Given the description of an element on the screen output the (x, y) to click on. 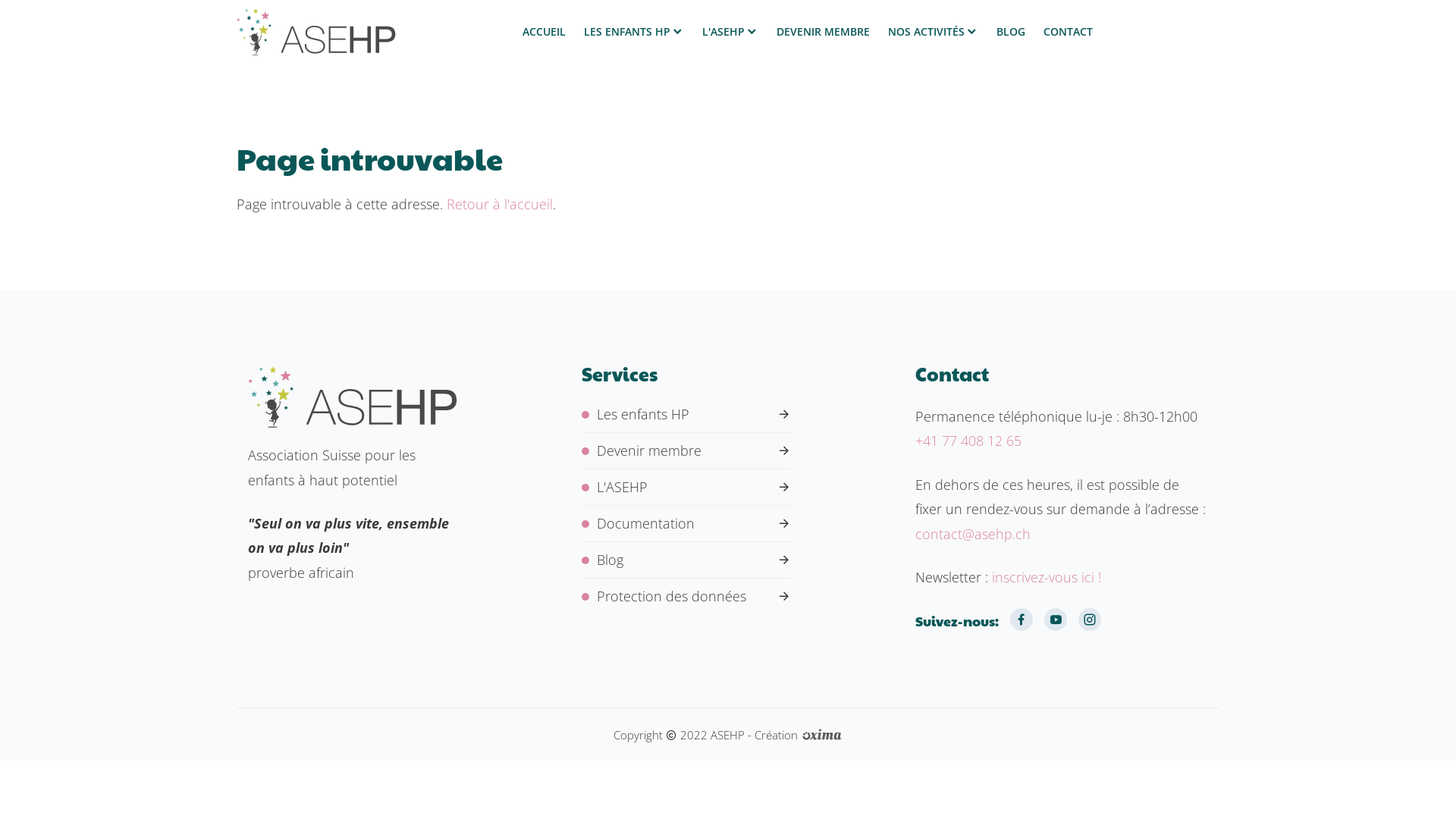
L'ASEHP Element type: text (685, 486)
L'ASEHP Element type: text (730, 31)
inscrivez-vous ici ! Element type: text (1046, 576)
contact@asehp.ch Element type: text (972, 533)
Documentation Element type: text (685, 523)
Les enfants HP Element type: text (685, 414)
CONTACT Element type: text (1067, 31)
LES ENFANTS HP Element type: text (633, 31)
Devenir membre Element type: text (685, 450)
DEVENIR MEMBRE Element type: text (822, 31)
+41 77 408 12 65 Element type: text (968, 440)
BLOG Element type: text (1010, 31)
ACCUEIL Element type: text (543, 31)
Blog Element type: text (685, 559)
